Given the description of an element on the screen output the (x, y) to click on. 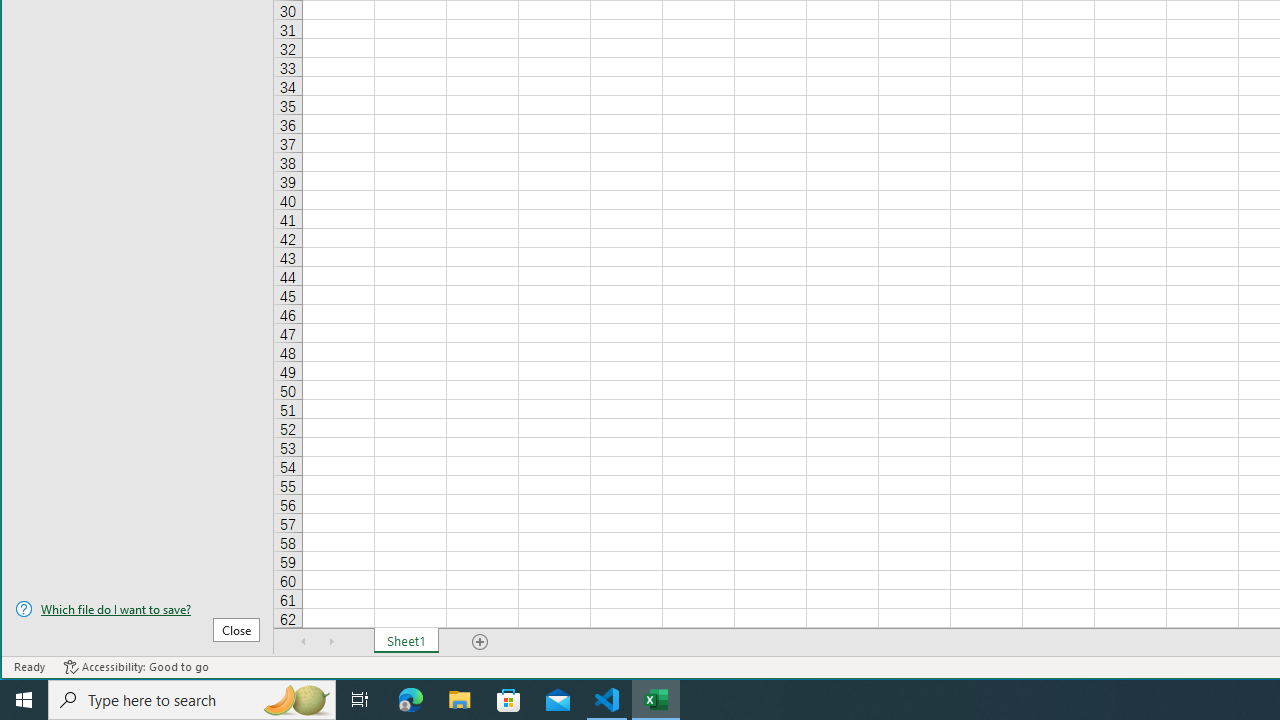
Microsoft Store (509, 699)
